Given the description of an element on the screen output the (x, y) to click on. 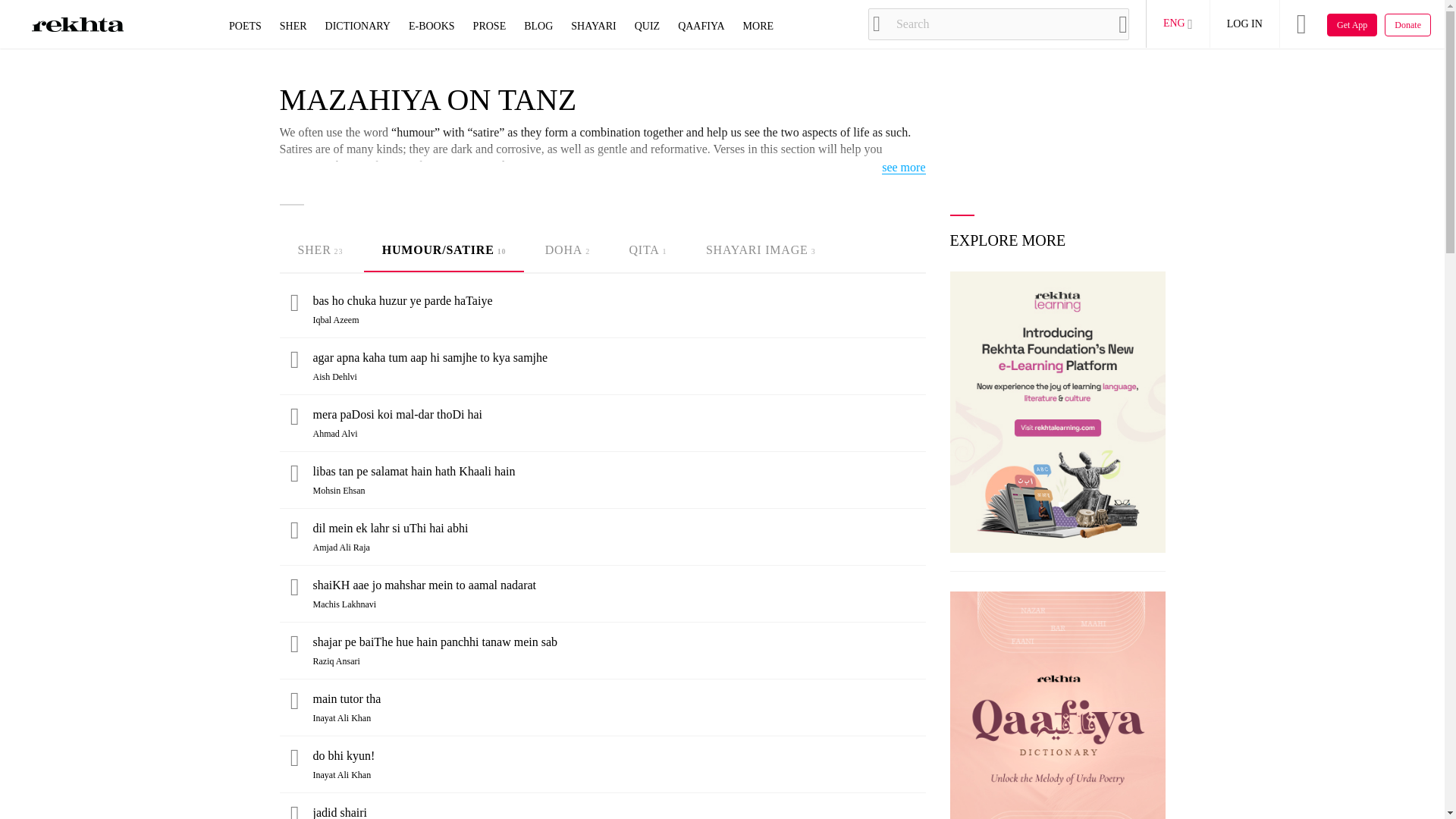
main tutor tha (618, 698)
SHAYARI IMAGE3 (760, 249)
mera paDosi koi mal-dar thoDi hai (618, 414)
Favorites (293, 589)
do bhi kyun! (618, 755)
Favorites (293, 760)
agar apna kaha tum aap hi samjhe to kya samjhe (618, 357)
see more (903, 167)
QITA1 (647, 249)
Favorites (293, 646)
bas ho chuka huzur ye parde haTaiye (618, 300)
mera paDosi koi mal-dar thoDi hai (618, 414)
shaiKH aae jo mahshar mein to aamal nadarat (618, 585)
DOHA2 (567, 249)
shajar pe baiThe hue hain panchhi tanaw mein sab (618, 642)
